Given the description of an element on the screen output the (x, y) to click on. 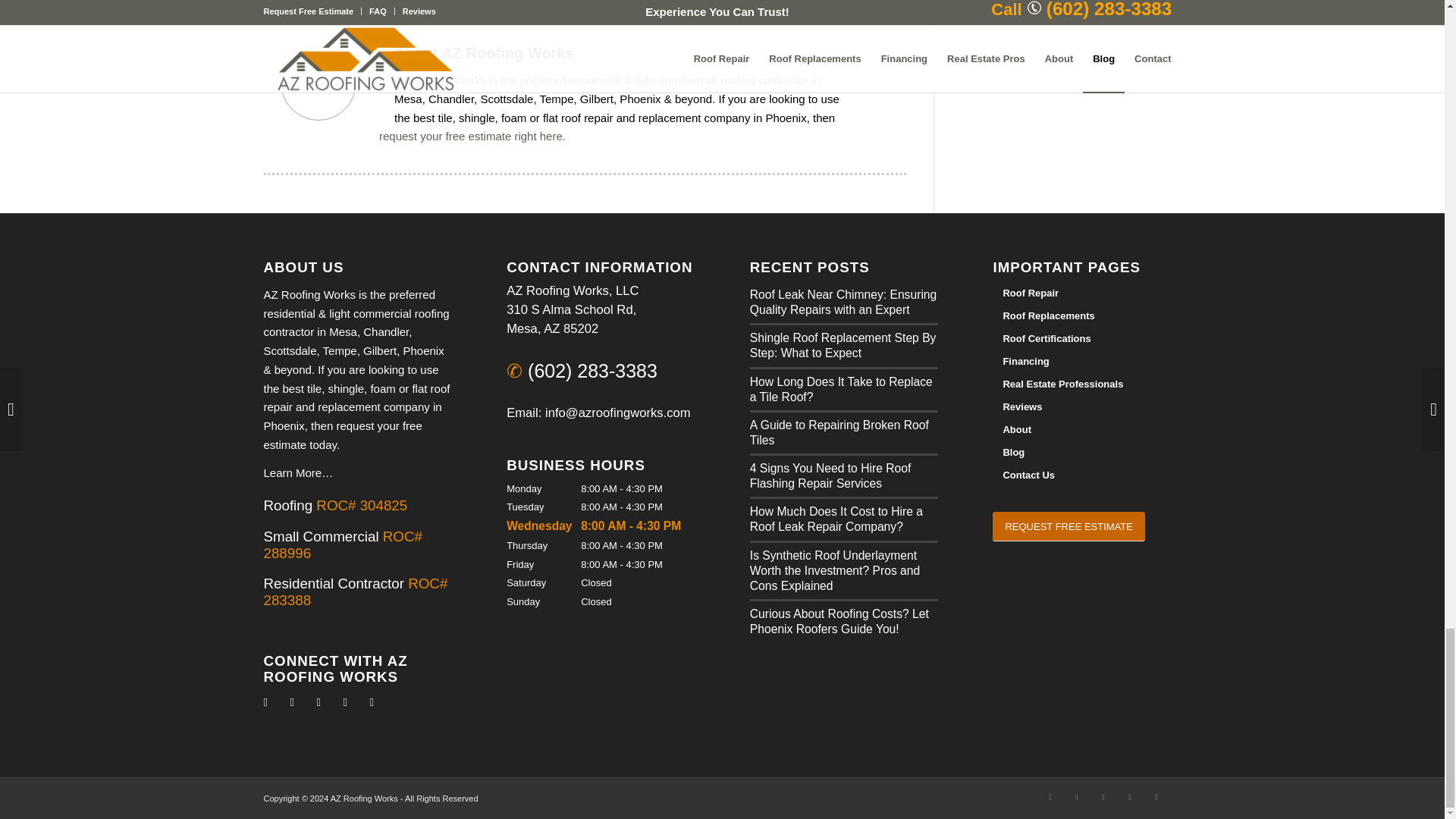
Linkedin (1101, 796)
Mail (370, 702)
Twitter (290, 702)
Gplus (343, 702)
Gplus (1129, 796)
Facebook (264, 702)
request your free estimate right here. (472, 135)
